Given the description of an element on the screen output the (x, y) to click on. 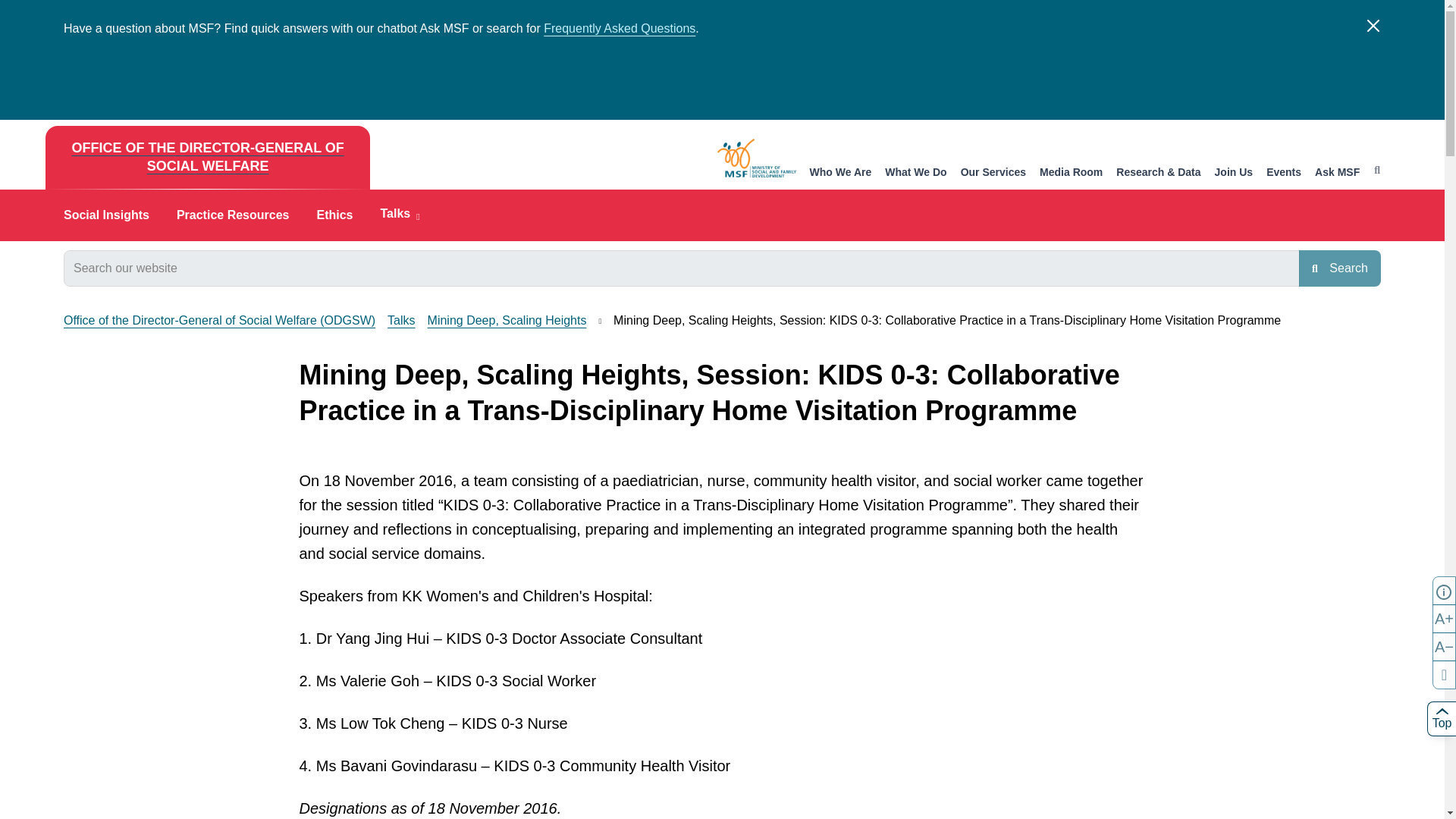
Who We Are (840, 172)
Events (1283, 172)
Media Room (1070, 172)
OFFICE OF THE DIRECTOR-GENERAL OF SOCIAL WELFARE (207, 157)
Our Services (993, 172)
What We Do (915, 172)
Frequently Asked Questions (619, 28)
Join Us (1233, 172)
MSF logo (756, 157)
Ask MSF (1336, 172)
